Given the description of an element on the screen output the (x, y) to click on. 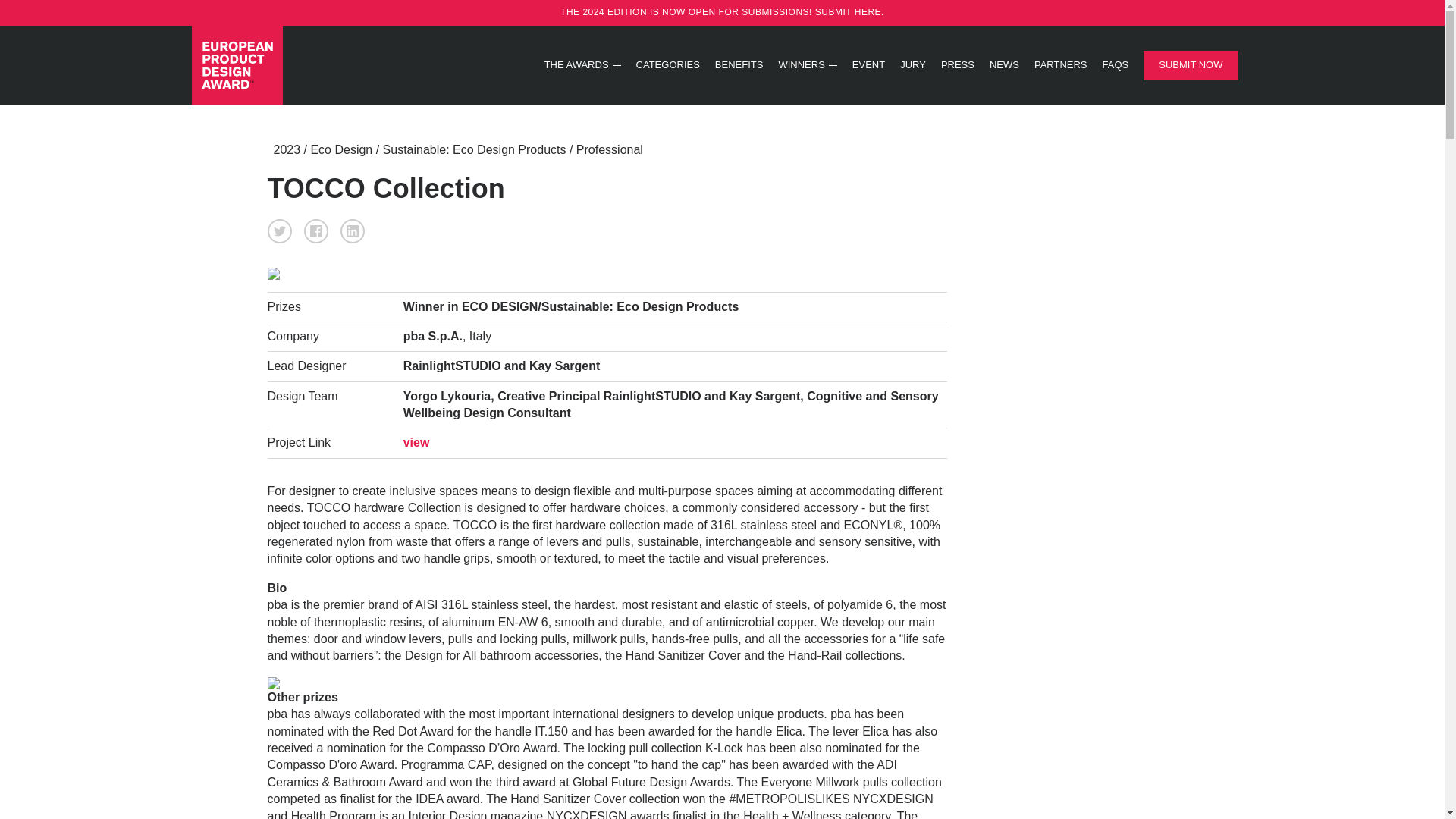
PRESS (957, 65)
WINNERS (806, 65)
SUBMIT NOW (1189, 64)
BENEFITS (738, 65)
CATEGORIES (668, 65)
JURY (912, 65)
NEWS (1004, 65)
FAQS (1115, 65)
EVENT (868, 65)
PARTNERS (1060, 65)
THE AWARDS (582, 65)
view (416, 441)
Single Winner - European Product Design Award (280, 65)
